Given the description of an element on the screen output the (x, y) to click on. 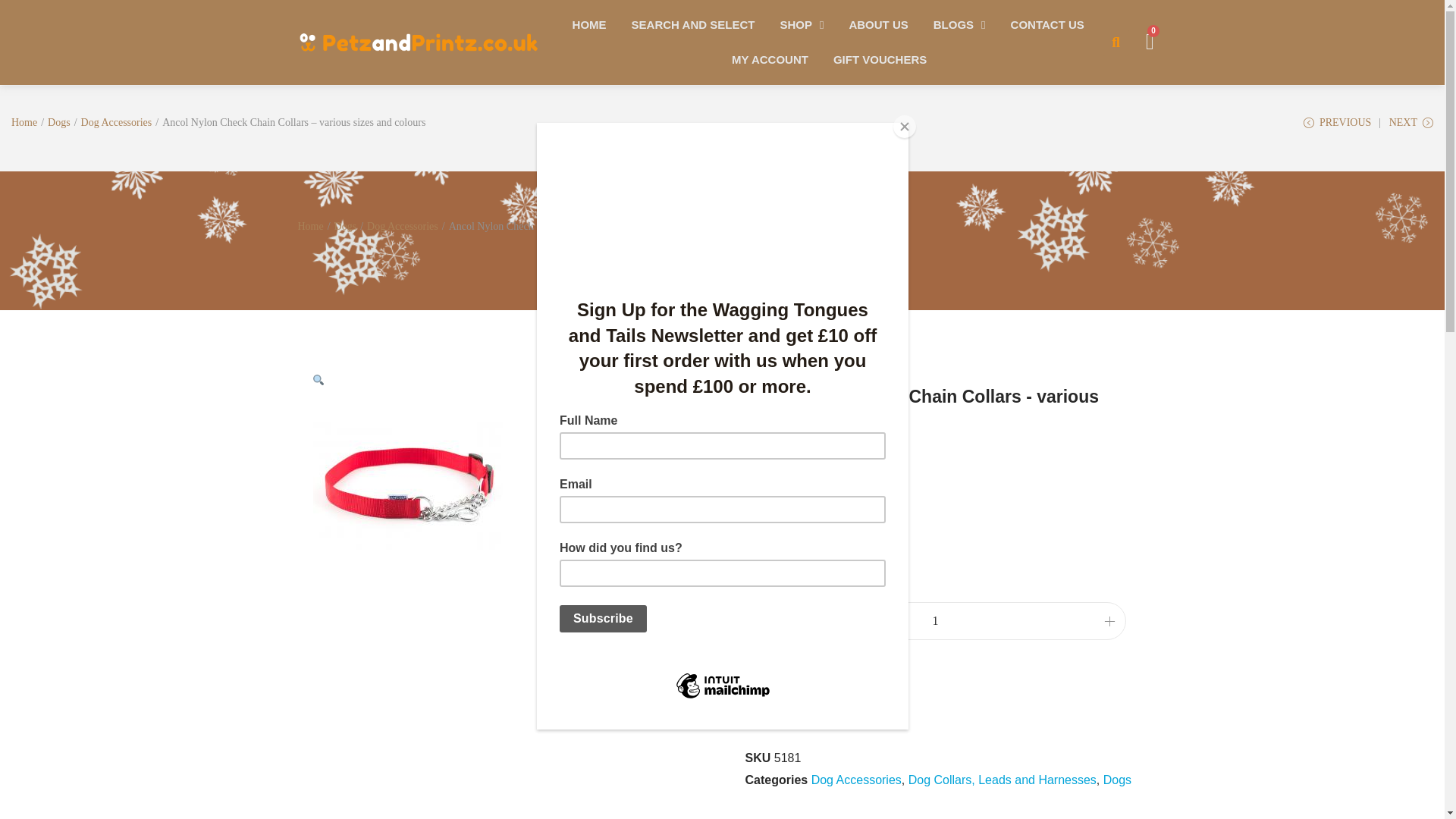
SEARCH AND SELECT (693, 24)
CONTACT US (1047, 24)
1 (935, 620)
GIFT VOUCHERS (879, 59)
832019.jpg (407, 486)
BLOGS (959, 24)
MY ACCOUNT (769, 59)
SHOP (801, 24)
ABOUT US (877, 24)
HOME (588, 24)
